Given the description of an element on the screen output the (x, y) to click on. 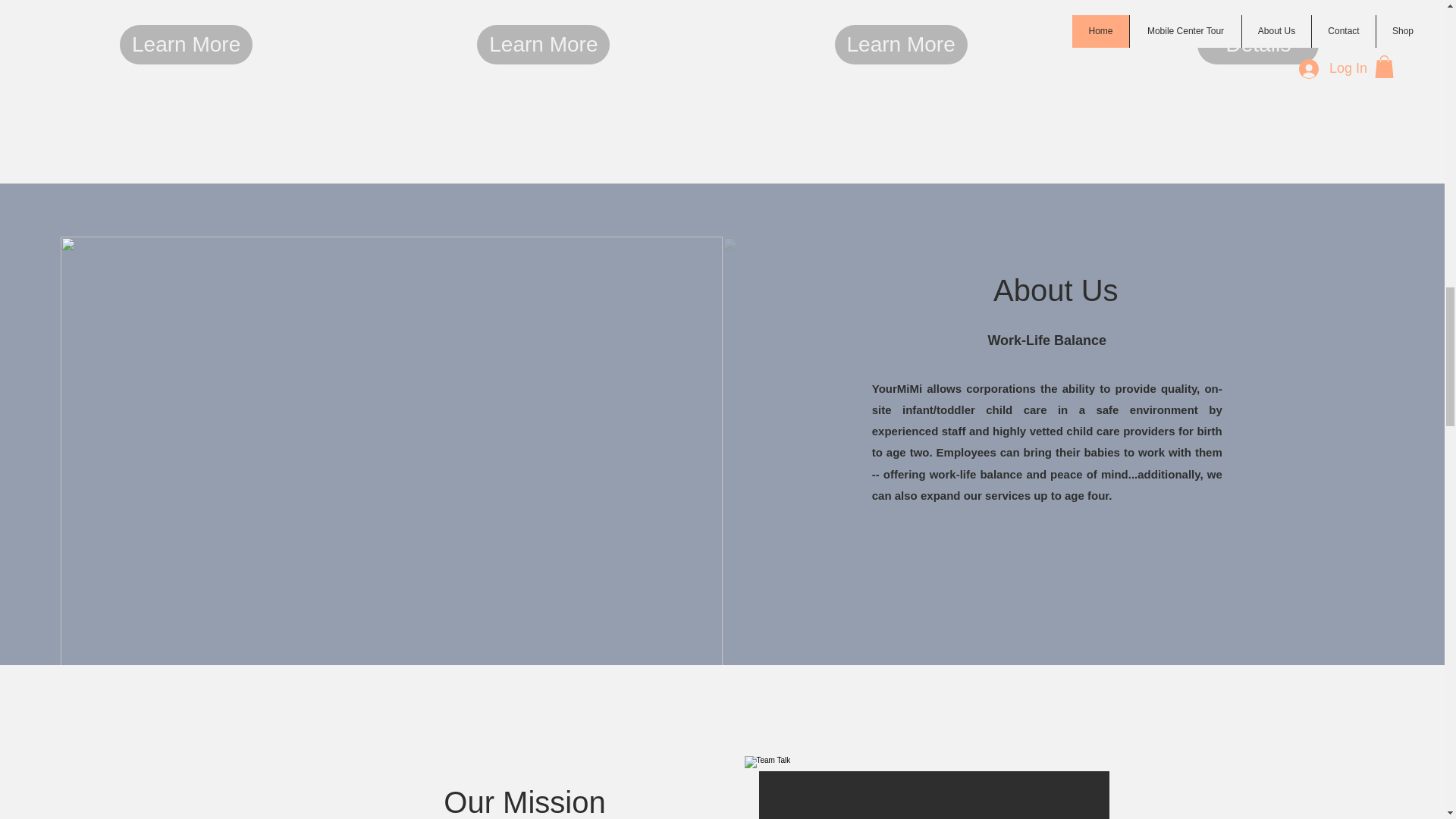
Learn More (543, 44)
Learn More (901, 44)
Details (1257, 44)
Learn More (185, 44)
